Given the description of an element on the screen output the (x, y) to click on. 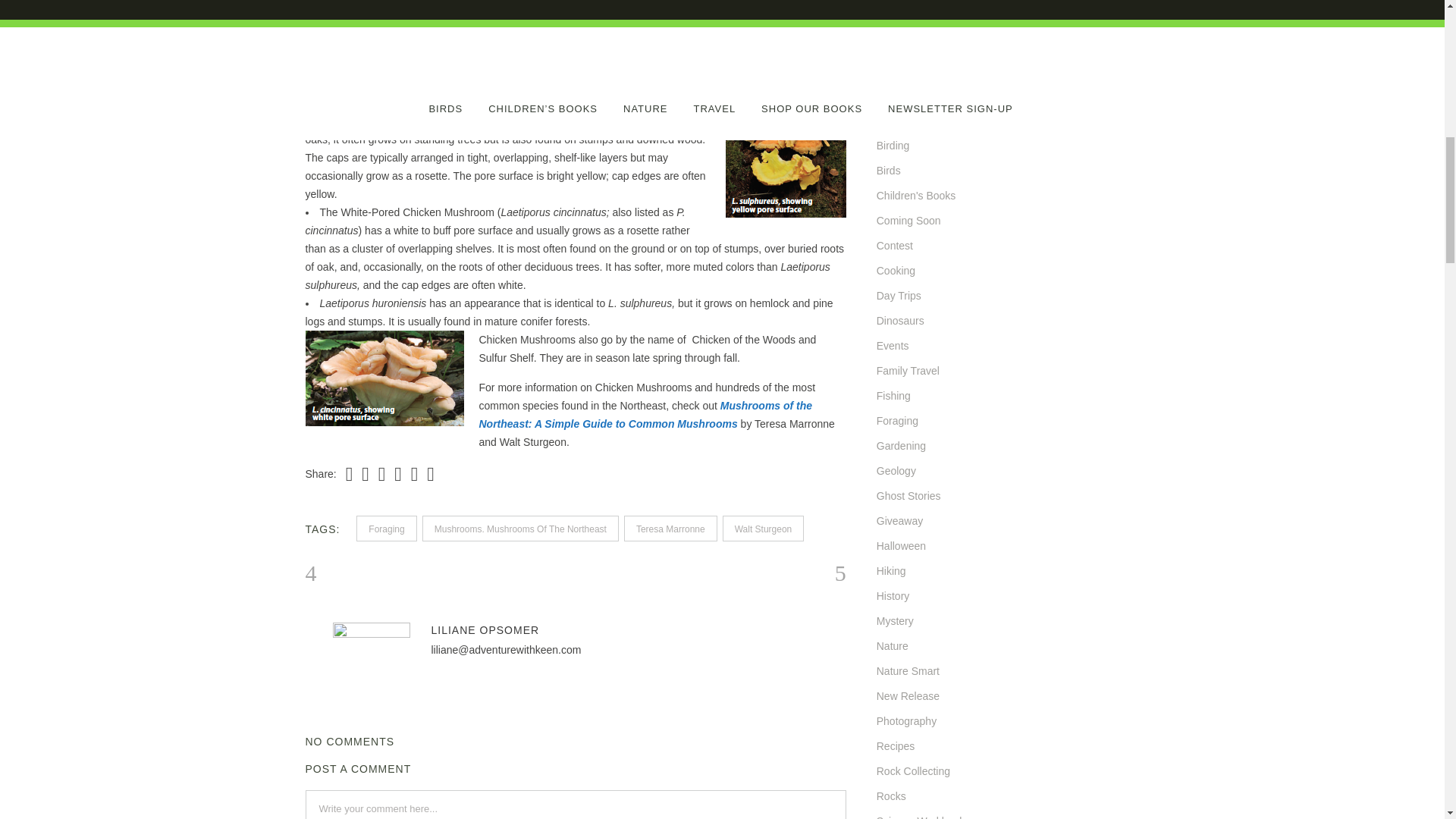
Teresa Marronne (670, 528)
Foraging (386, 528)
Mushrooms. Mushrooms Of The Northeast (520, 528)
Walt Sturgeon (763, 528)
